Given the description of an element on the screen output the (x, y) to click on. 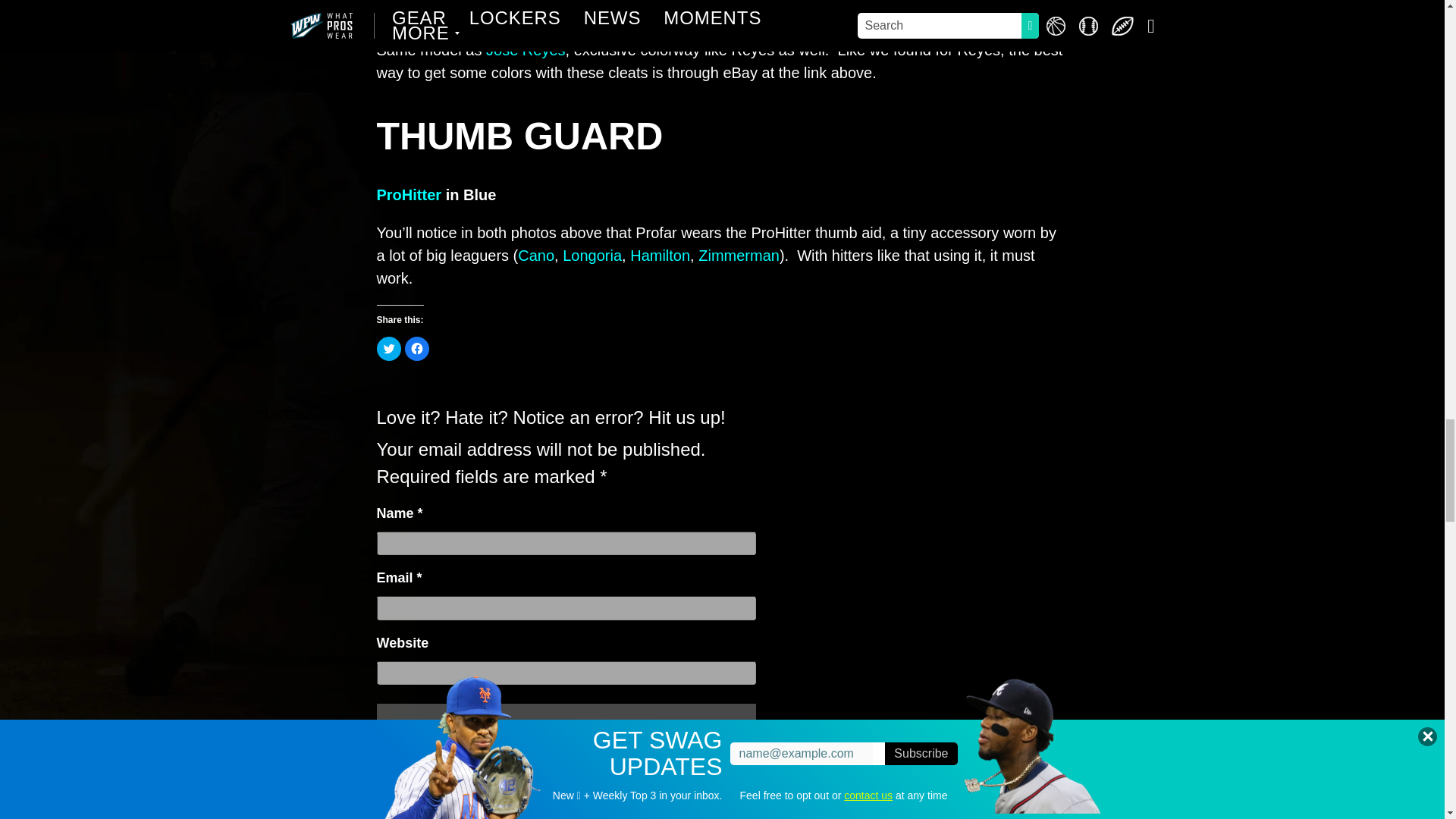
Post Comment (565, 806)
Player Profile: Josh Hamilton (660, 255)
Player Profile: Jose Reyes (526, 49)
Player Profile: Evan Longoria (591, 255)
Player Profile: Ryan Zimmerman (738, 255)
Player Profile: Robinson Cano (536, 255)
Click to share on Twitter (387, 348)
Click to share on Facebook (416, 348)
